Given the description of an element on the screen output the (x, y) to click on. 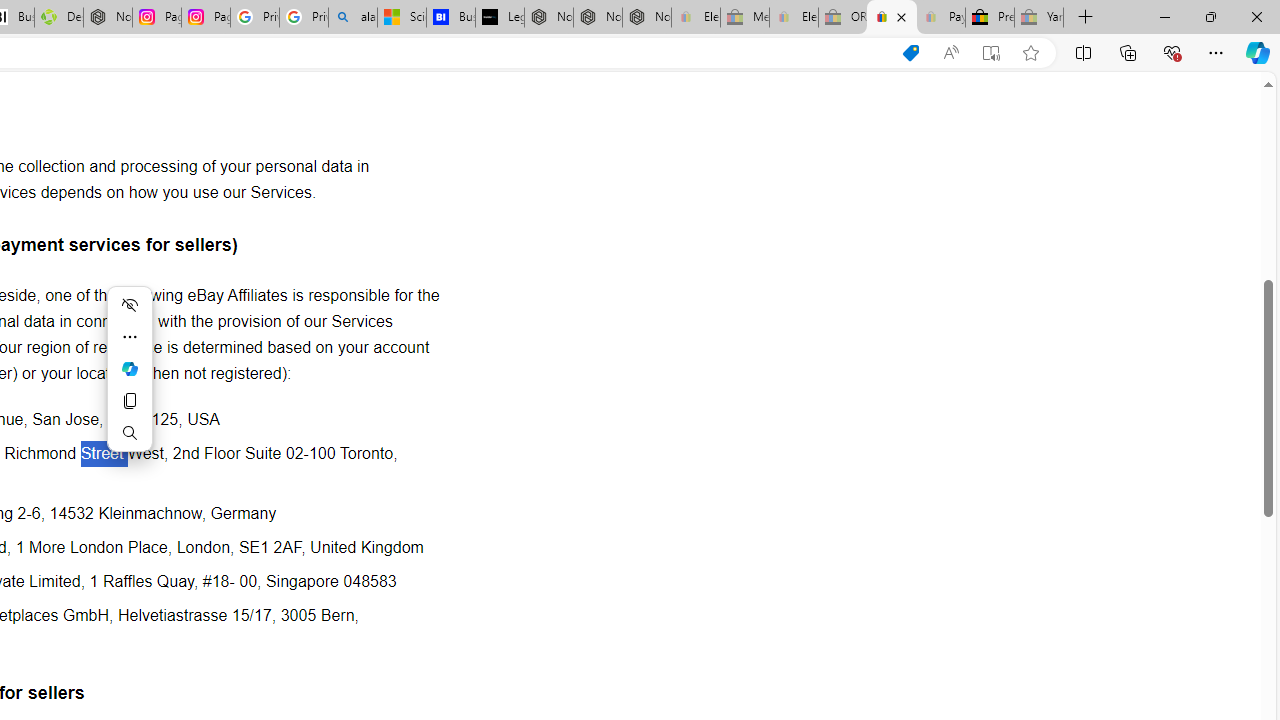
Mini menu on text selection (129, 380)
